Given the description of an element on the screen output the (x, y) to click on. 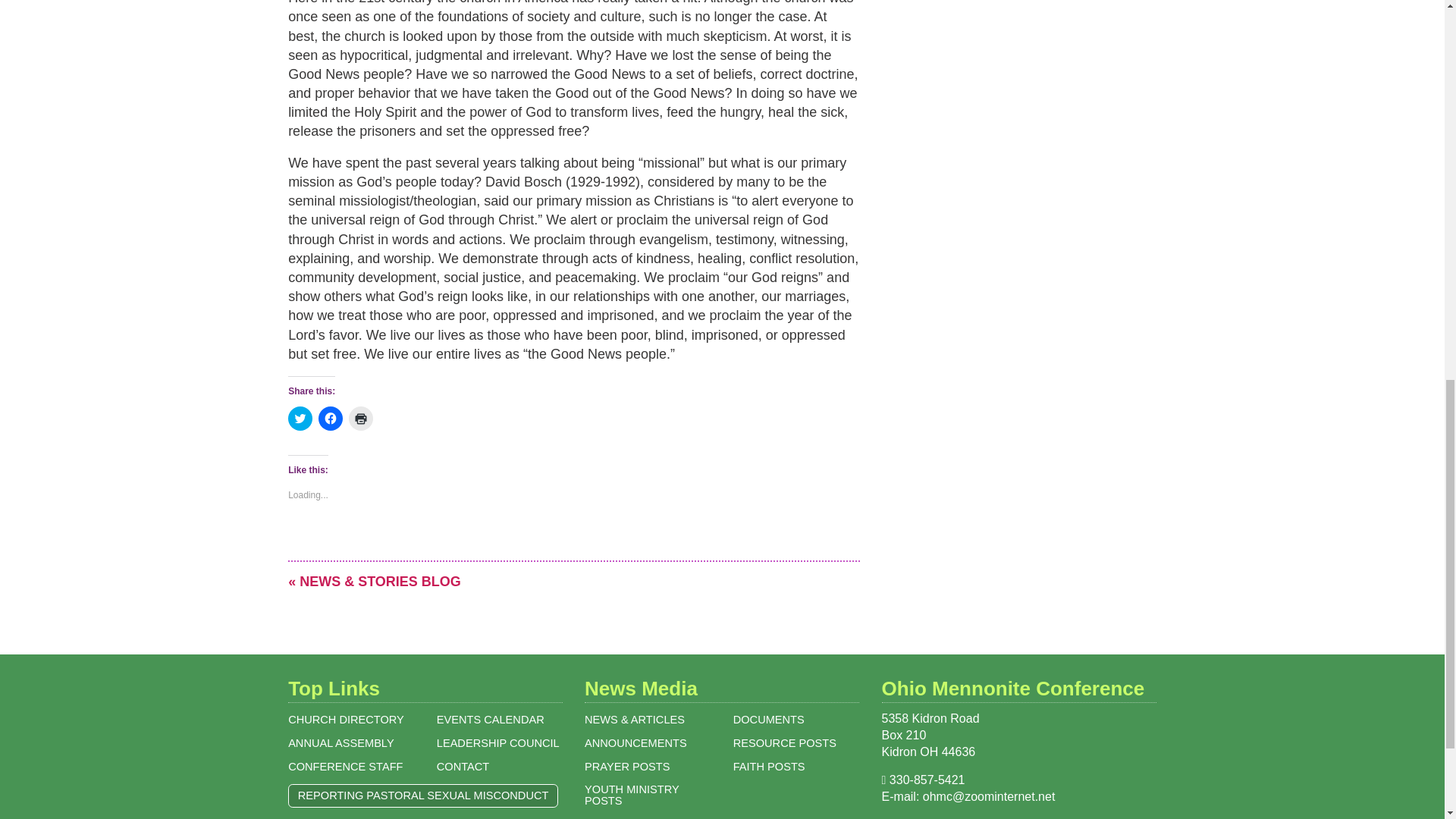
Click to print (360, 418)
Click to share on Facebook (330, 418)
Click to share on Twitter (300, 418)
